Given the description of an element on the screen output the (x, y) to click on. 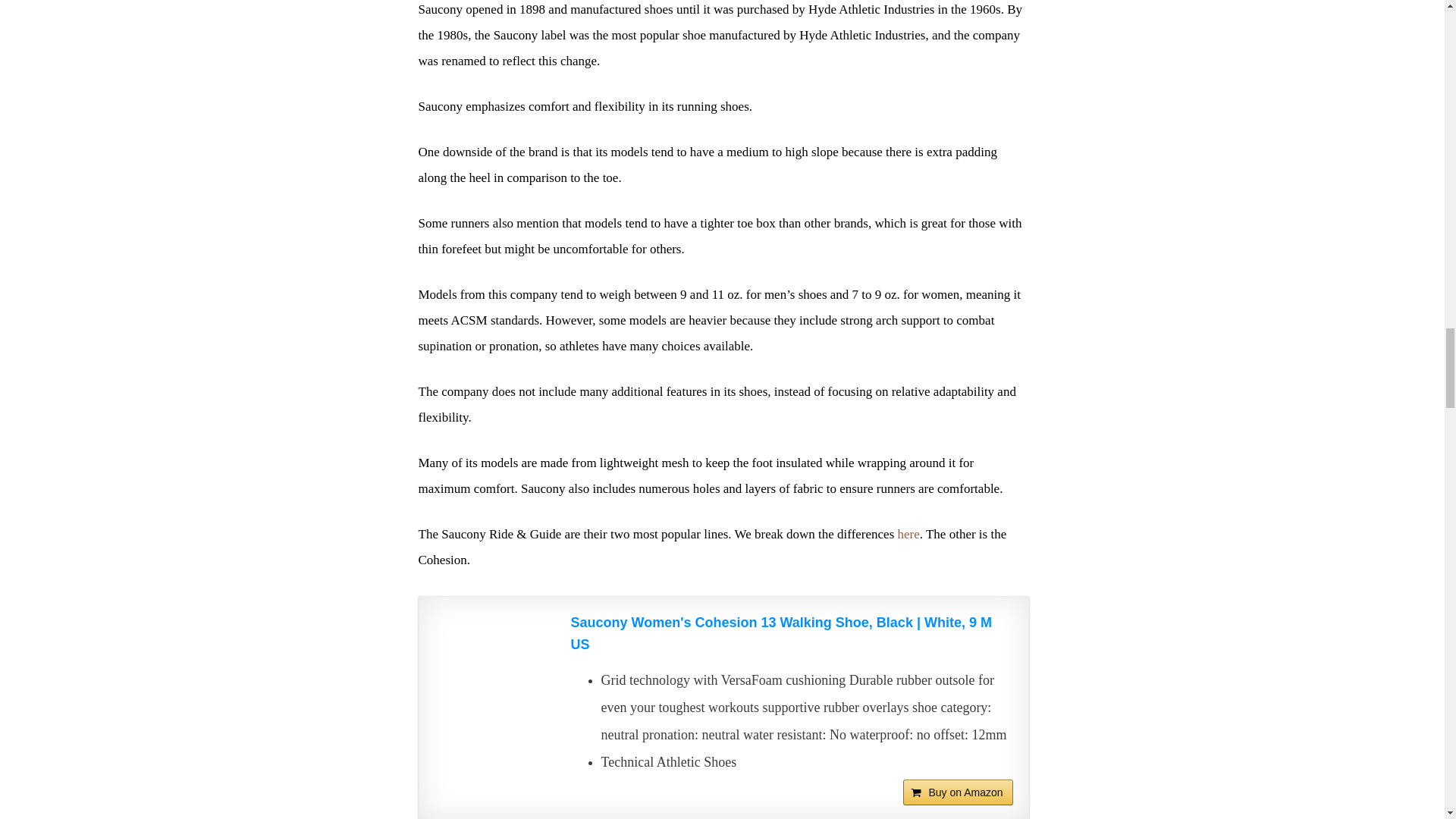
Buy on Amazon (956, 792)
